Given the description of an element on the screen output the (x, y) to click on. 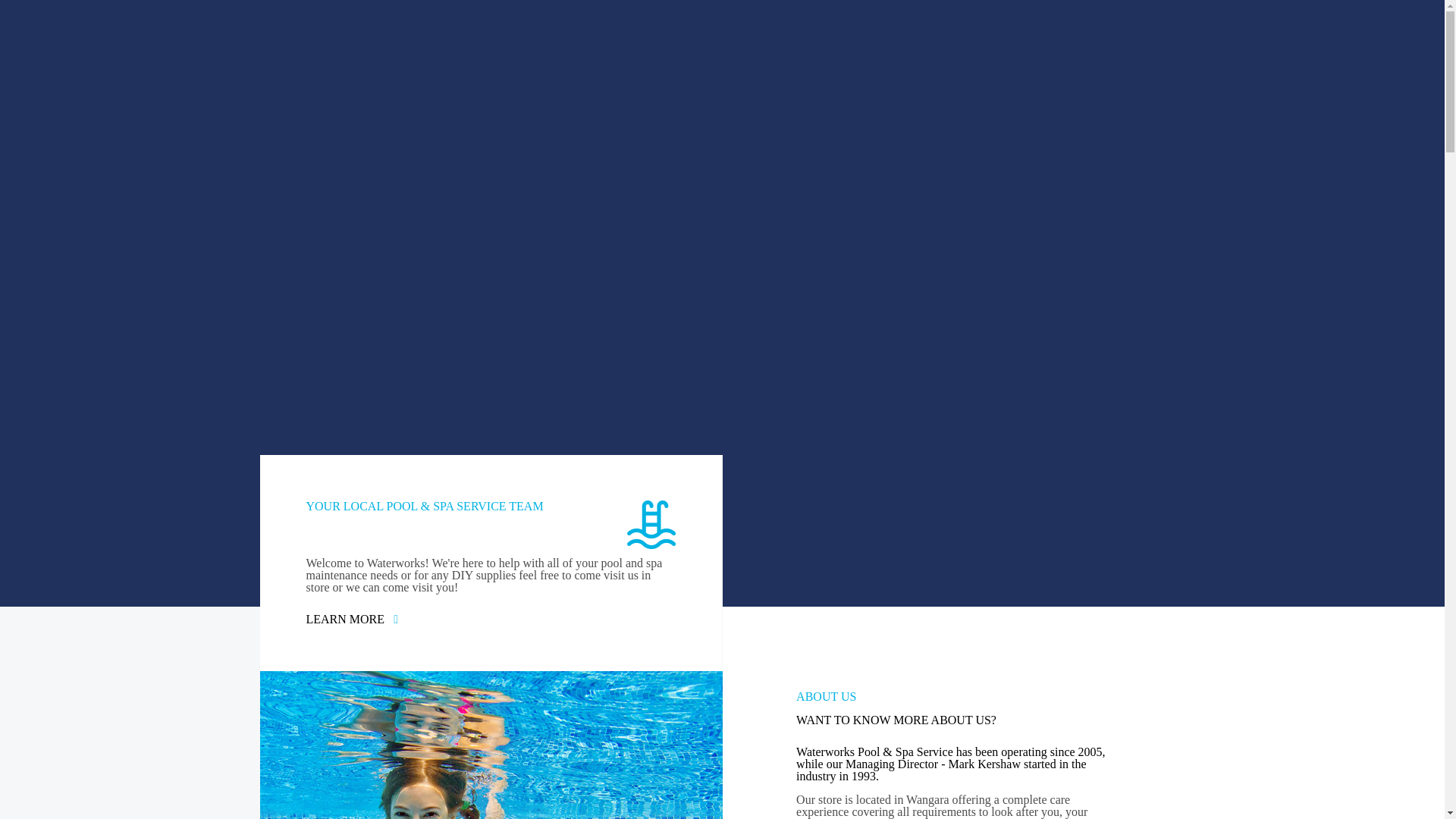
pool1 (490, 744)
LEARN MORE (345, 618)
pool-ladder (650, 524)
